Given the description of an element on the screen output the (x, y) to click on. 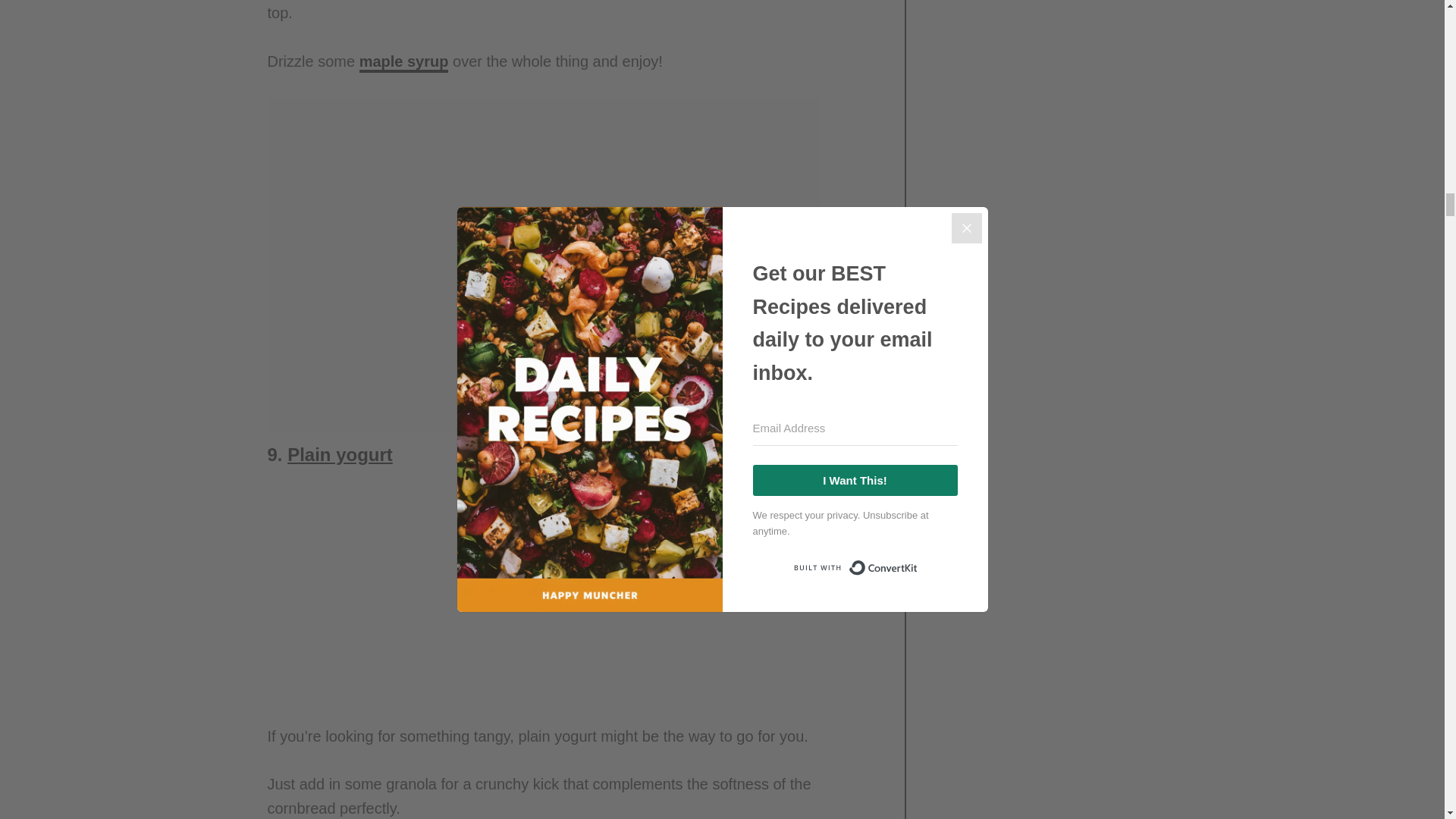
maple syrup (403, 62)
Plain yogurt (339, 454)
